Given the description of an element on the screen output the (x, y) to click on. 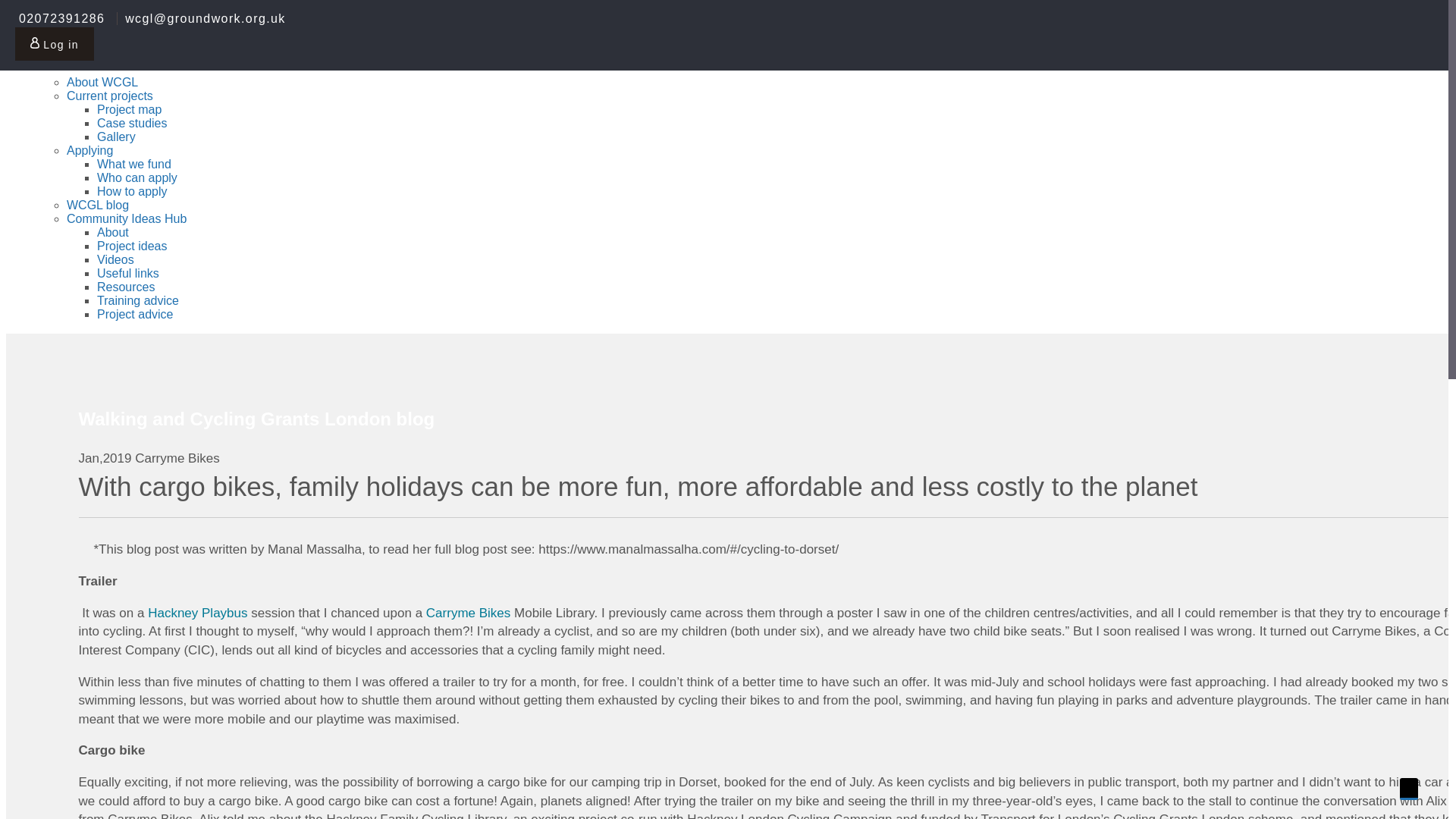
Gallery (116, 140)
Training advice (138, 304)
How to apply (132, 195)
Carryme Bikes (468, 612)
Who can apply (137, 181)
Videos (115, 263)
Project advice (135, 317)
Toggle navigation (51, 50)
WCGL blog (97, 205)
Community Ideas Hub (126, 218)
